Given the description of an element on the screen output the (x, y) to click on. 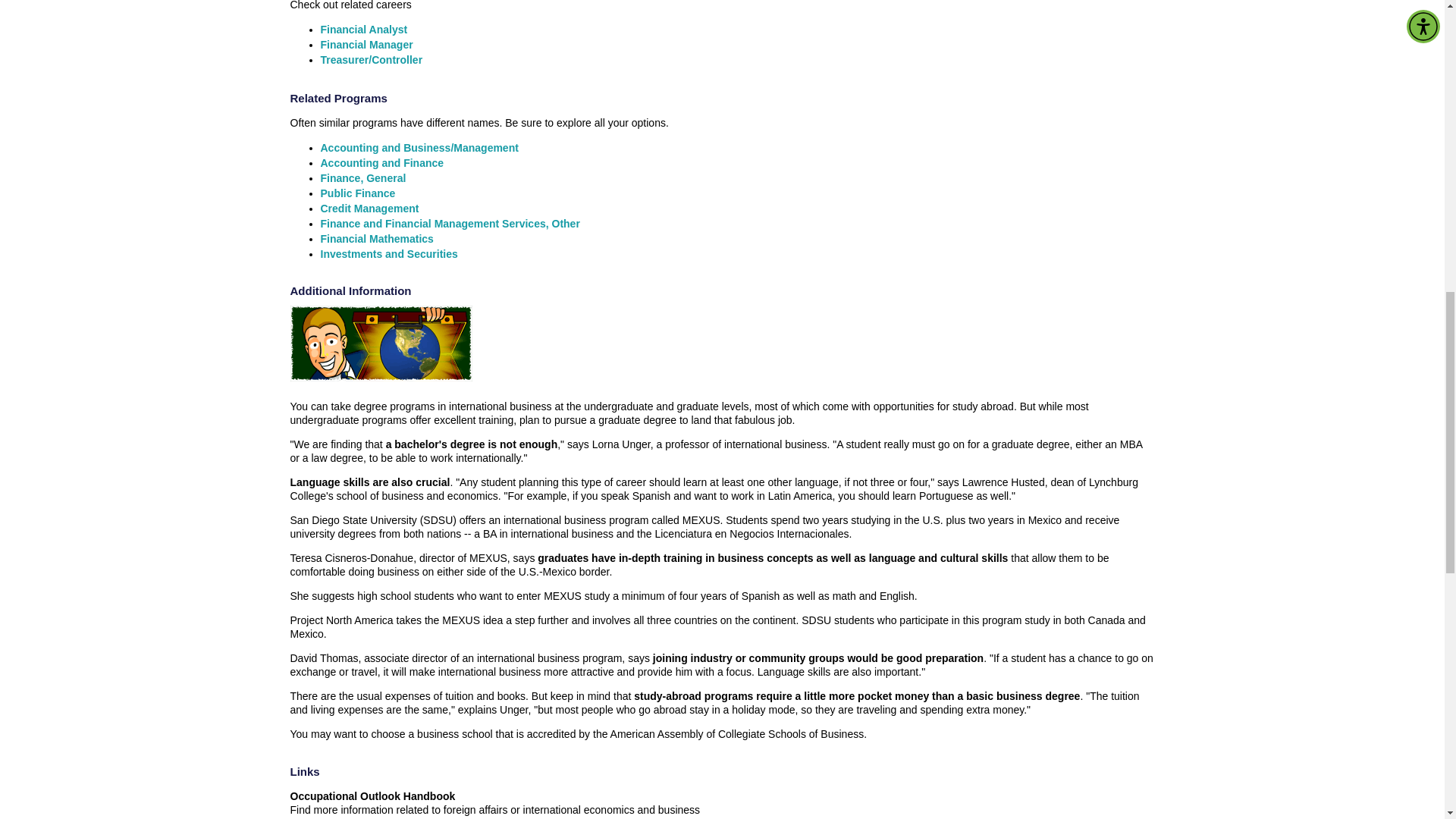
Financial Manager (366, 44)
Public Finance (357, 193)
Investments and Securities (388, 254)
Financial Mathematics (376, 238)
Finance and Financial Management Services, Other (449, 223)
Financial Analyst (363, 29)
Accounting and Finance (382, 162)
Finance, General (363, 177)
Credit Management (369, 208)
